Given the description of an element on the screen output the (x, y) to click on. 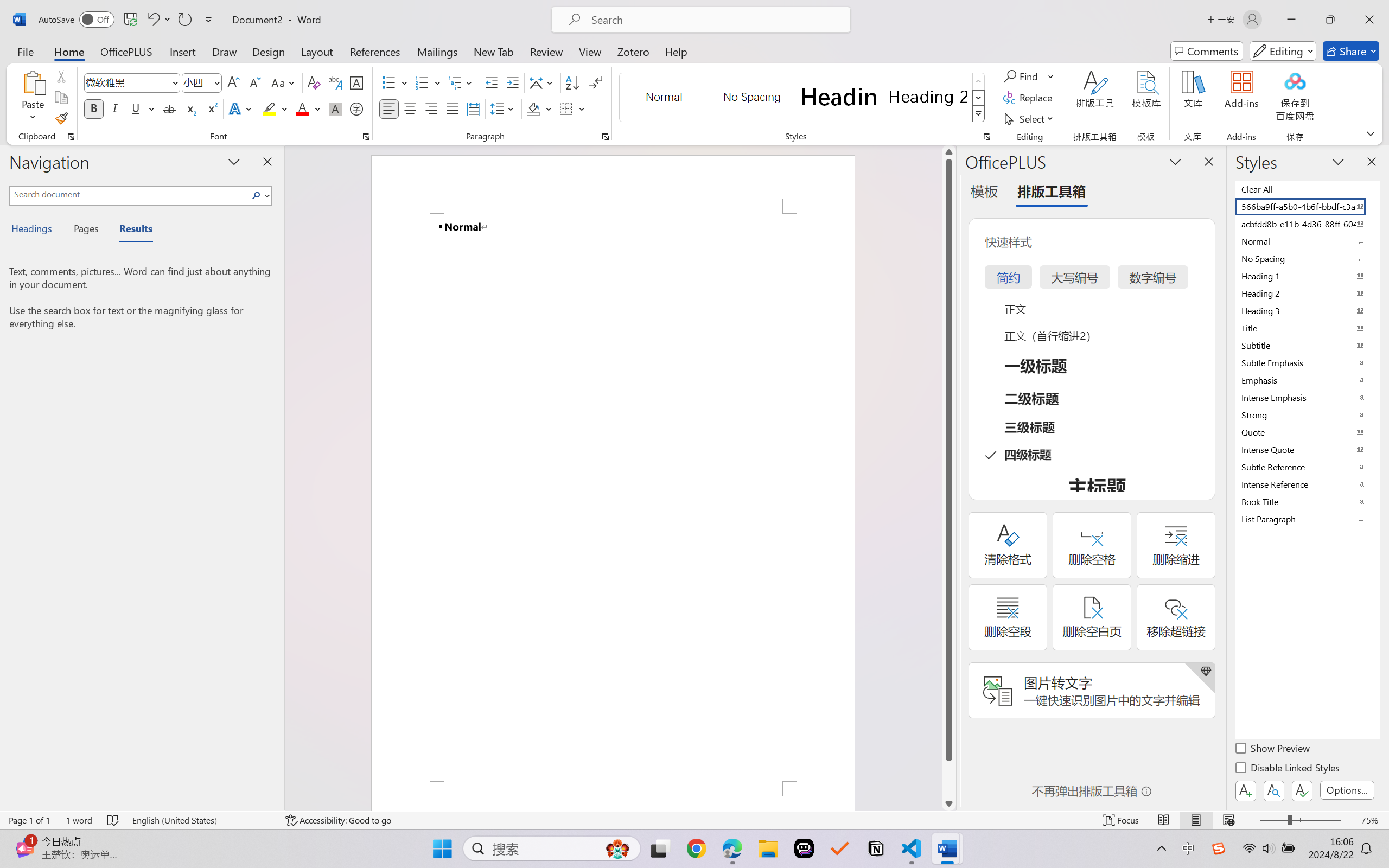
Show Preview (1273, 749)
Distributed (473, 108)
Borders (571, 108)
Find (1029, 75)
Search document (128, 193)
Borders (566, 108)
Select (1030, 118)
Undo <ApplyStyleToDoc>b__0 (152, 19)
Options... (1346, 789)
Font Size (196, 82)
Comments (1206, 50)
Disable Linked Styles (1287, 769)
